Given the description of an element on the screen output the (x, y) to click on. 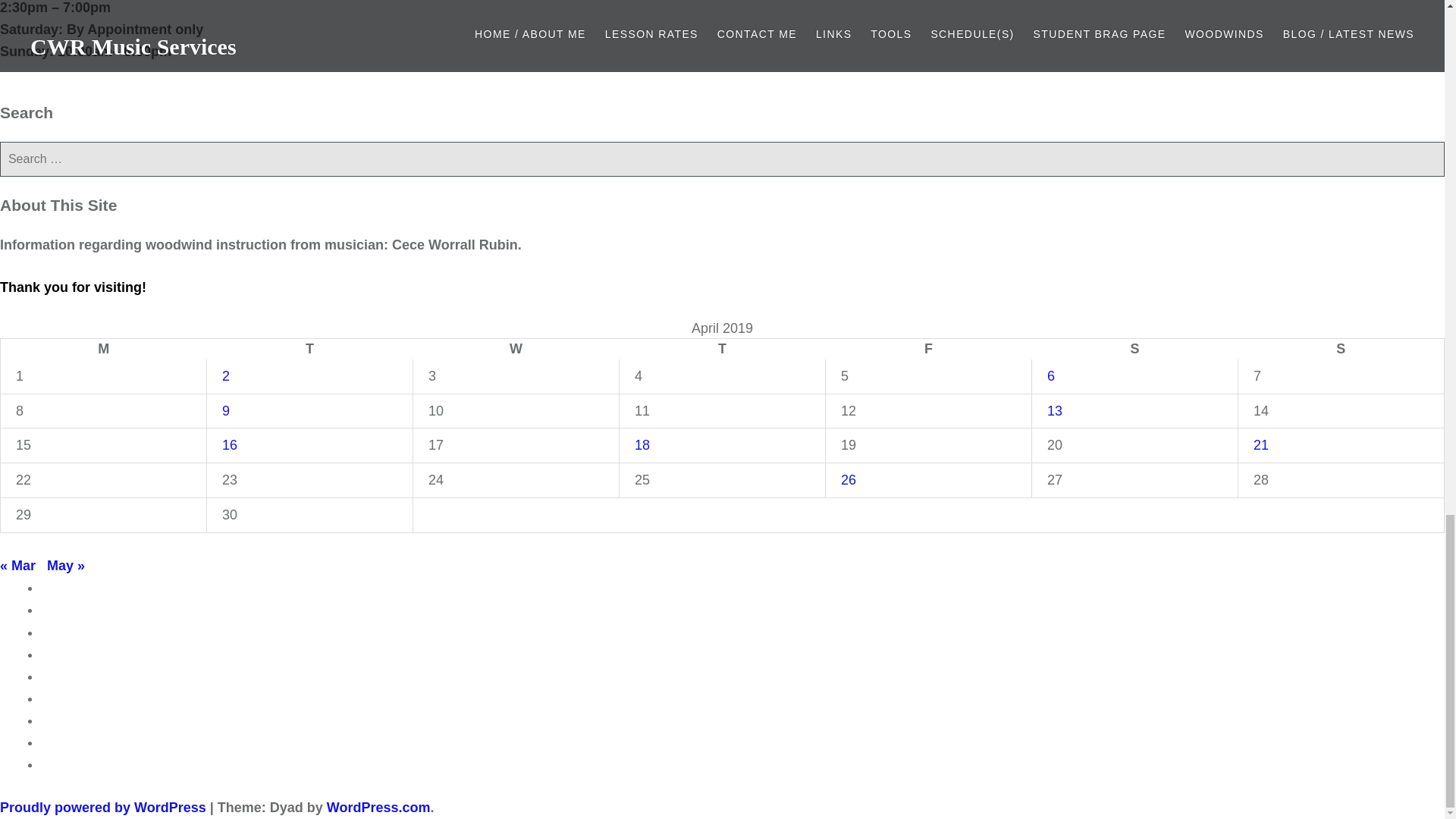
Thursday (721, 348)
Sunday (1340, 348)
Friday (927, 348)
Tuesday (309, 348)
Monday (103, 348)
Wednesday (515, 348)
Saturday (1133, 348)
